Given the description of an element on the screen output the (x, y) to click on. 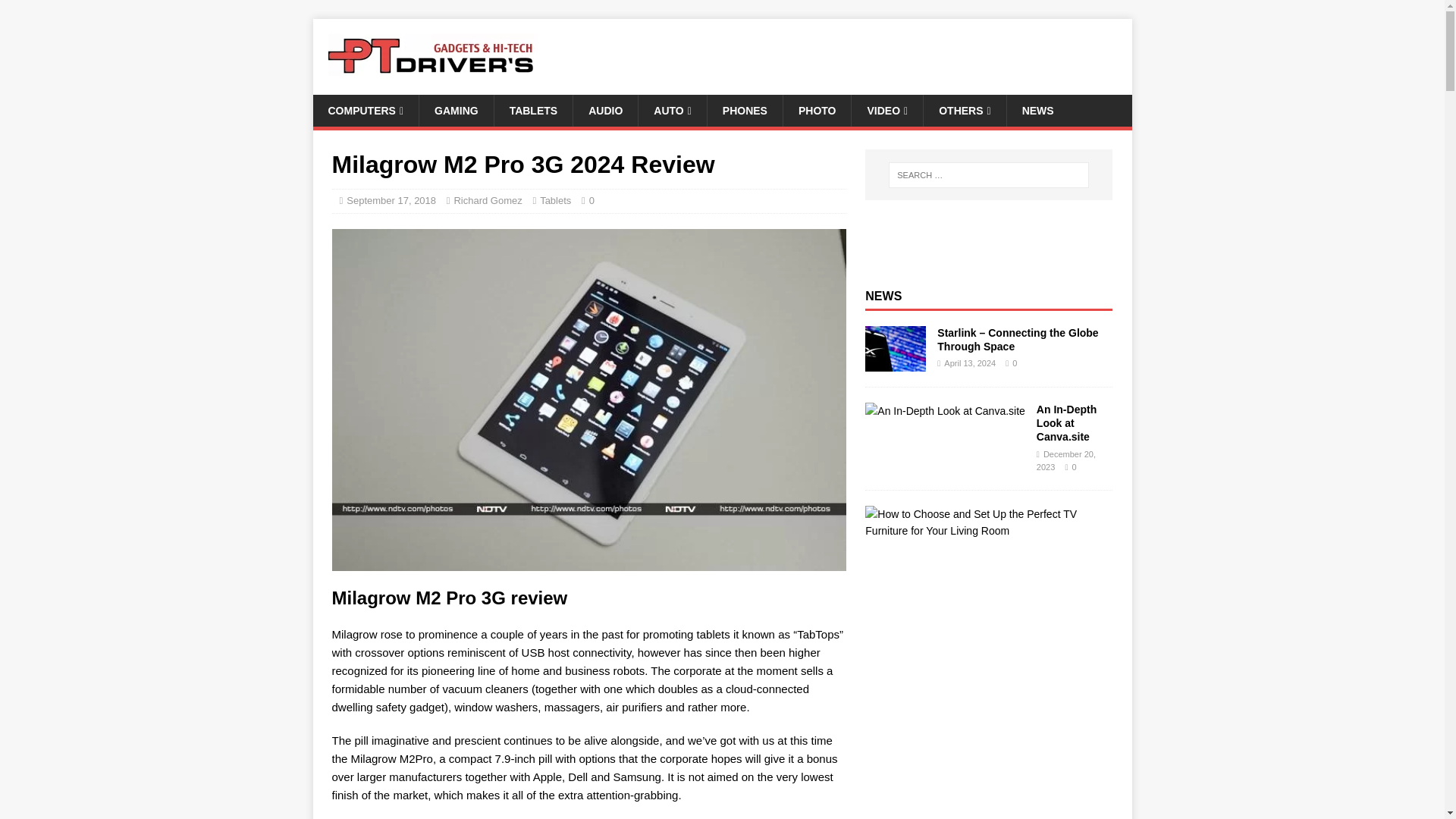
Audio (604, 110)
PHOTO (817, 110)
Tablets (533, 110)
Video (886, 110)
NEWS (1037, 110)
AUTO (671, 110)
Photo (817, 110)
Auto (671, 110)
AUDIO (604, 110)
Gaming (456, 110)
PHONES (744, 110)
September 17, 2018 (390, 200)
GAMING (456, 110)
Phones (744, 110)
Richard Gomez (486, 200)
